Given the description of an element on the screen output the (x, y) to click on. 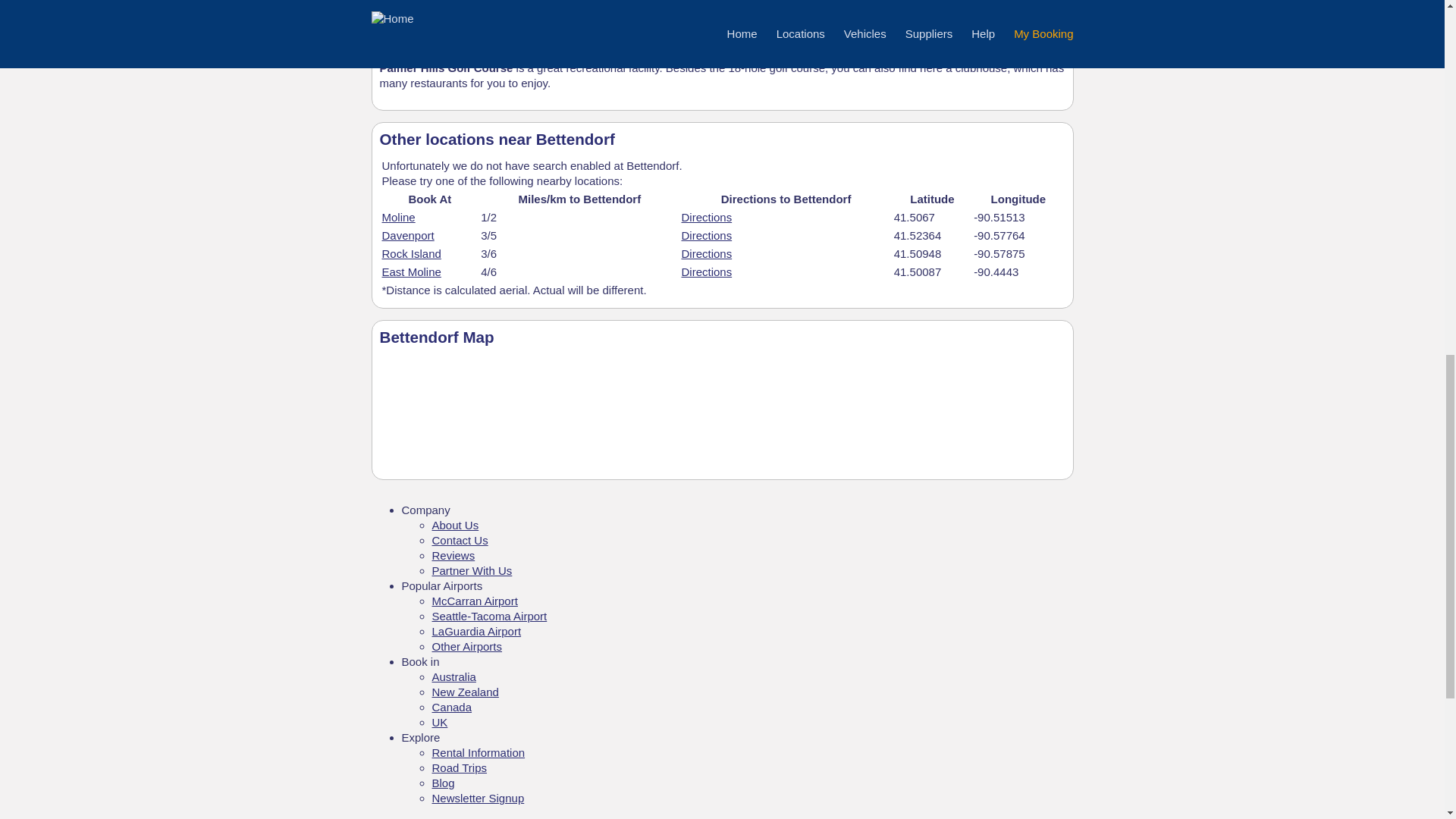
Moline (397, 216)
Davenport (407, 235)
Rock Island (411, 253)
East Moline (411, 271)
